Given the description of an element on the screen output the (x, y) to click on. 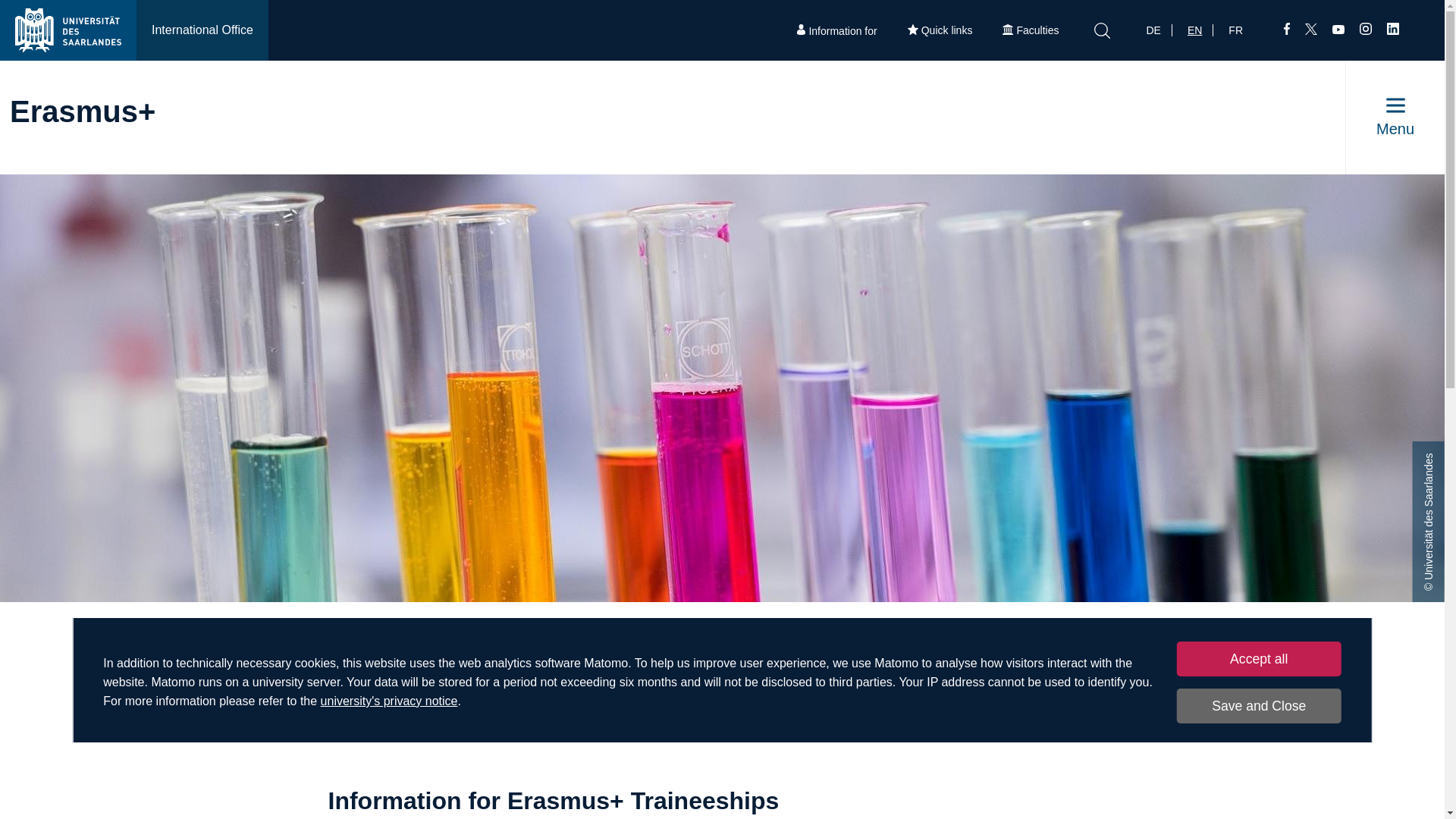
International Office (201, 30)
Englisch (1200, 30)
FR (1240, 30)
Quick links (940, 29)
LinkedIn (1393, 30)
EN (1200, 30)
Instagram (1365, 30)
X Twitter (1310, 30)
DE (1157, 30)
Faculties (1030, 29)
